Given the description of an element on the screen output the (x, y) to click on. 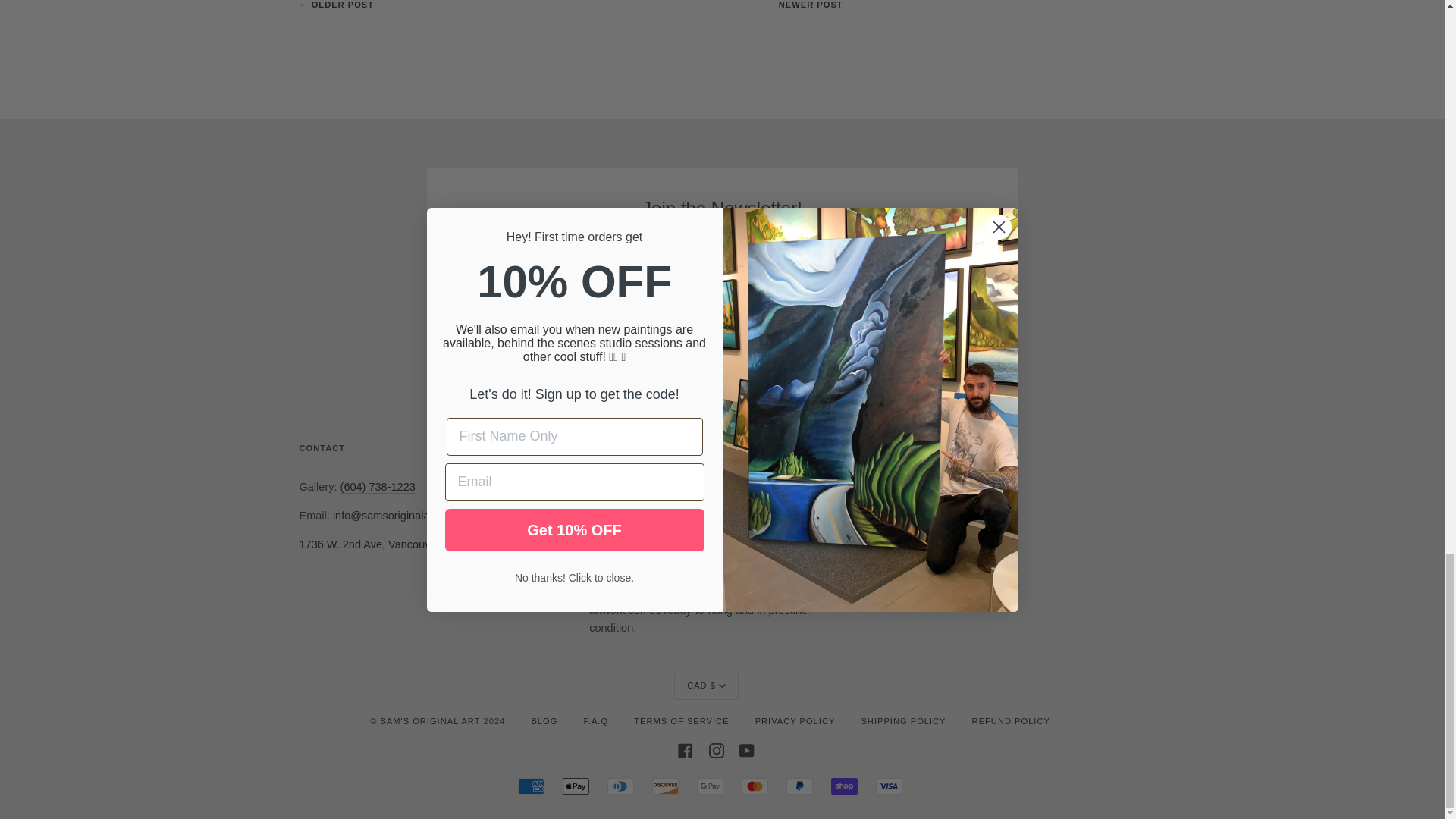
VISA (889, 786)
Instagram (715, 749)
DINERS CLUB (620, 786)
APPLE PAY (575, 786)
GOOGLE PAY (710, 786)
DISCOVER (665, 786)
SHOP PAY (844, 786)
Facebook (685, 749)
AMERICAN EXPRESS (531, 786)
YouTube (746, 749)
MASTERCARD (754, 786)
PAYPAL (799, 786)
